Given the description of an element on the screen output the (x, y) to click on. 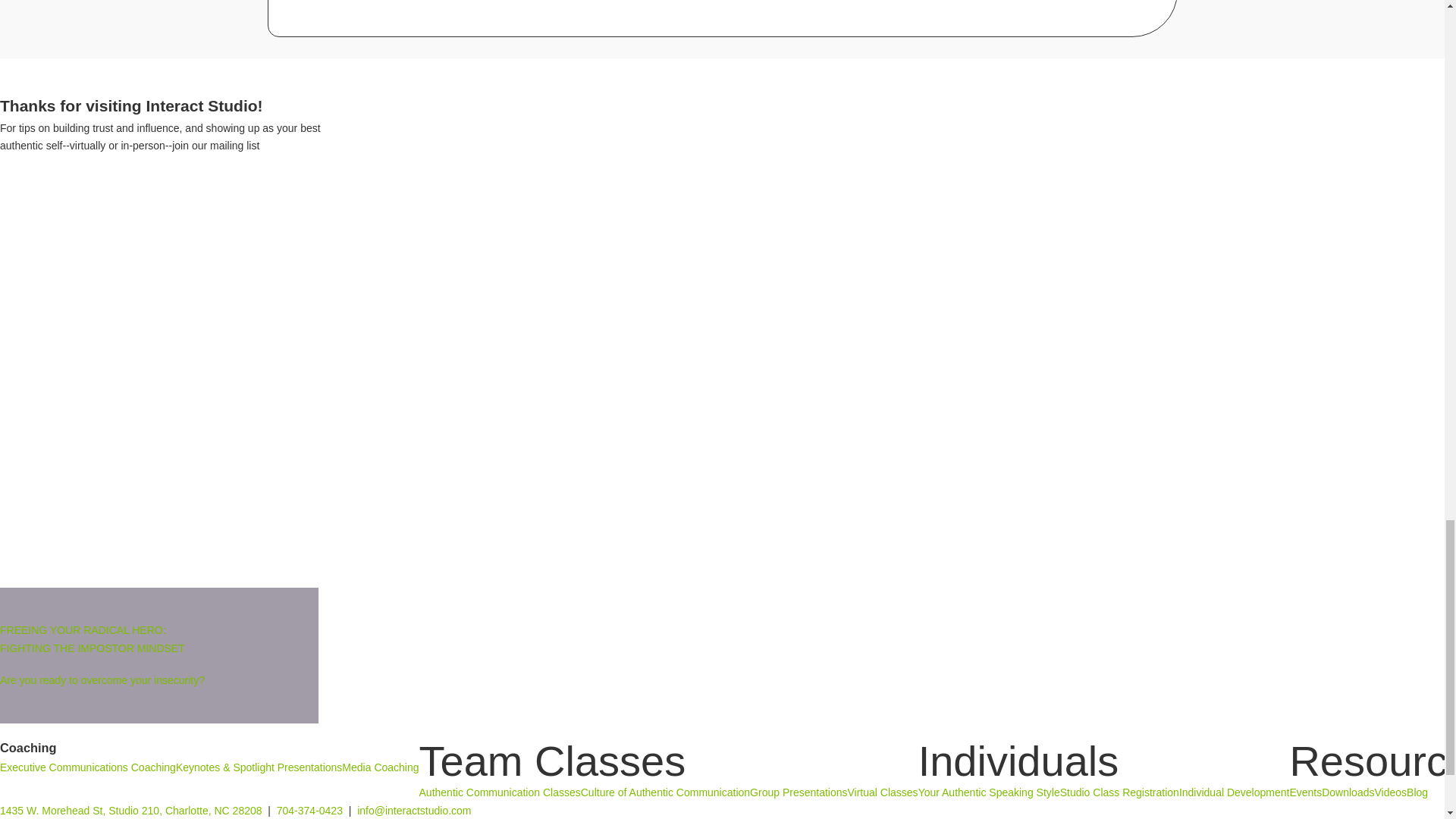
Videos (1390, 792)
Your Authentic Speaking Style (988, 792)
Blog (1417, 792)
Downloads (1348, 792)
Executive Communications Coaching (88, 768)
Events (1305, 792)
Individual Development (1234, 792)
Studio Class Registration (1119, 792)
Group Presentations (798, 792)
